Given the description of an element on the screen output the (x, y) to click on. 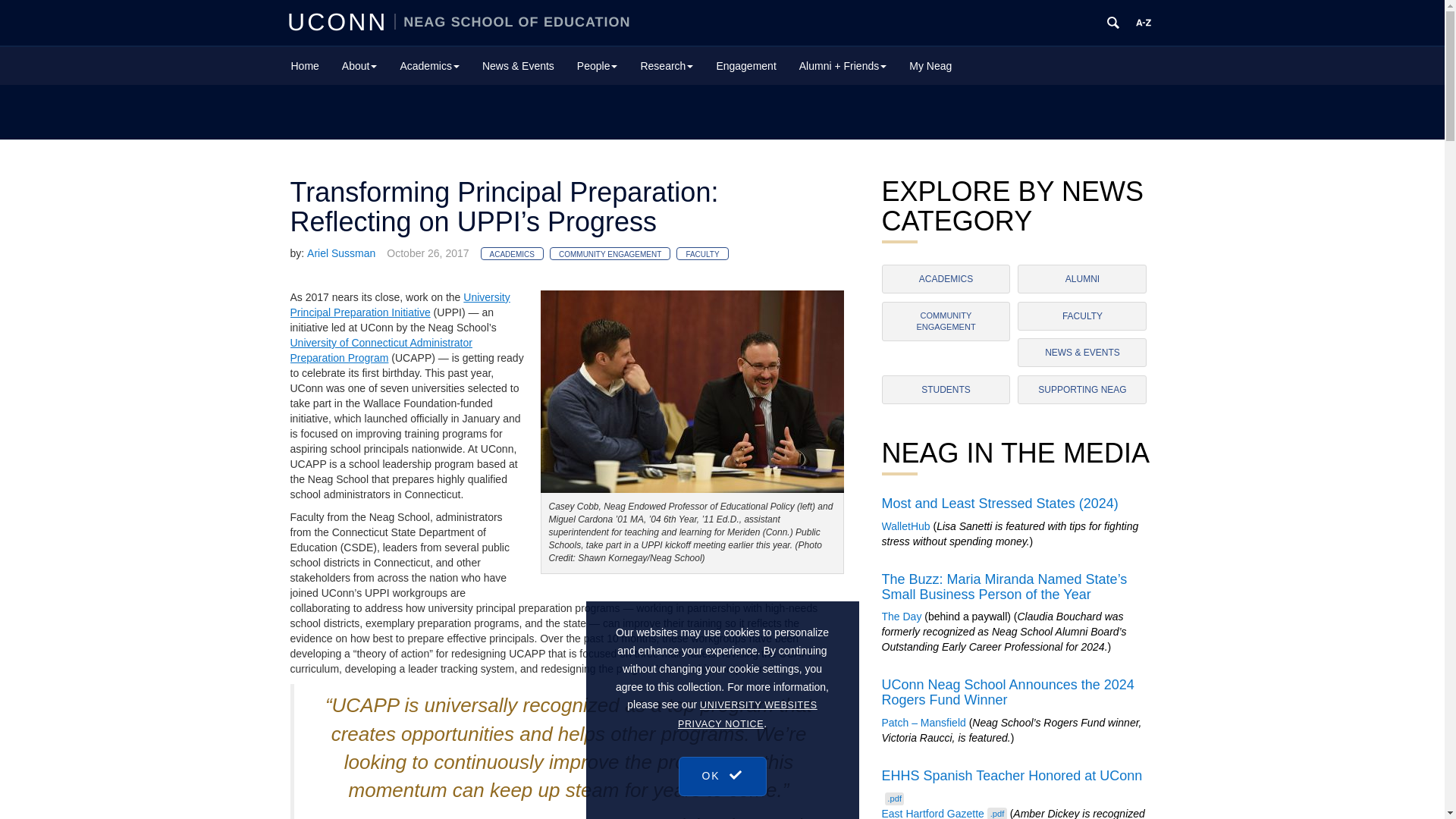
Home (304, 65)
UCONN A TO Z INDEX (1143, 22)
SEARCH UCONN (1112, 22)
UCONN A TO Z INDEX (1143, 22)
UCONN (340, 21)
View all posts in Academics (511, 253)
Posts by Ariel Sussman (341, 253)
View all posts in Faculty (702, 253)
About (359, 65)
View all posts in Community Engagement (609, 253)
SEARCH UCONN (1113, 22)
Academics (429, 65)
NEAG SCHOOL OF EDUCATION (512, 21)
